Given the description of an element on the screen output the (x, y) to click on. 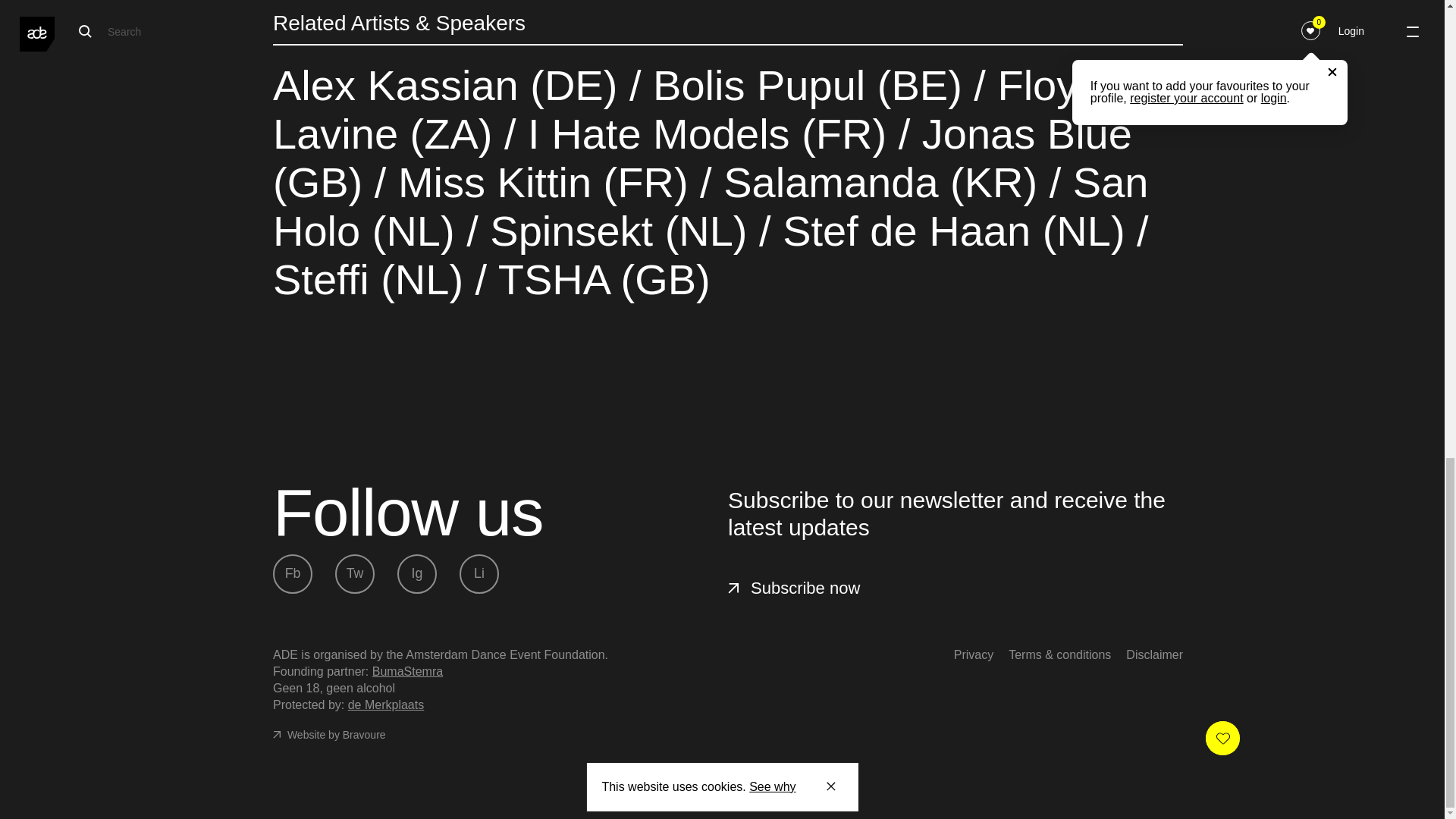
Disclaimer (1153, 655)
Privacy (972, 655)
